Given the description of an element on the screen output the (x, y) to click on. 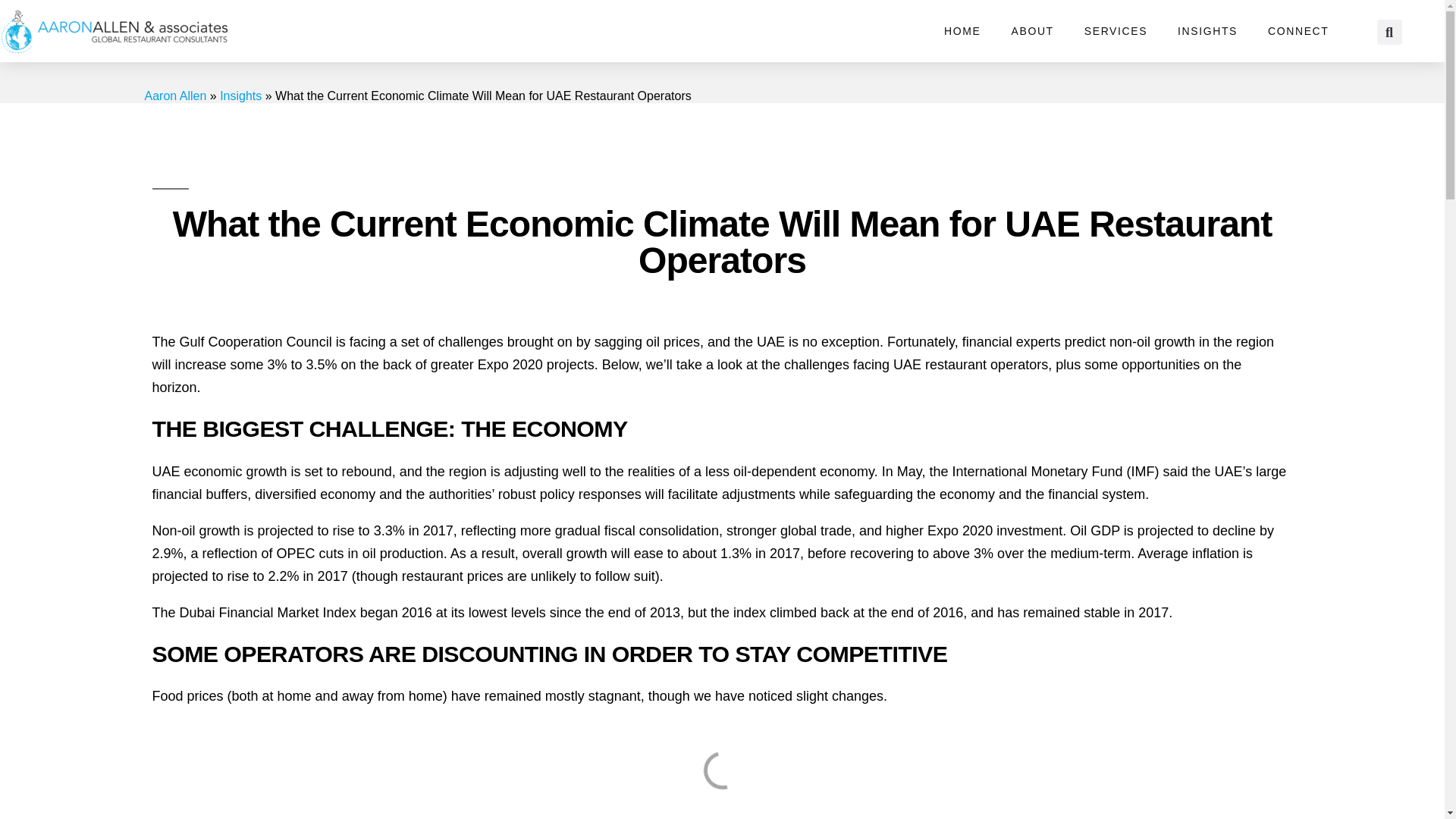
SERVICES (1114, 30)
HOME (961, 30)
CONNECT (1297, 30)
INSIGHTS (1206, 30)
ABOUT (1031, 30)
